Given the description of an element on the screen output the (x, y) to click on. 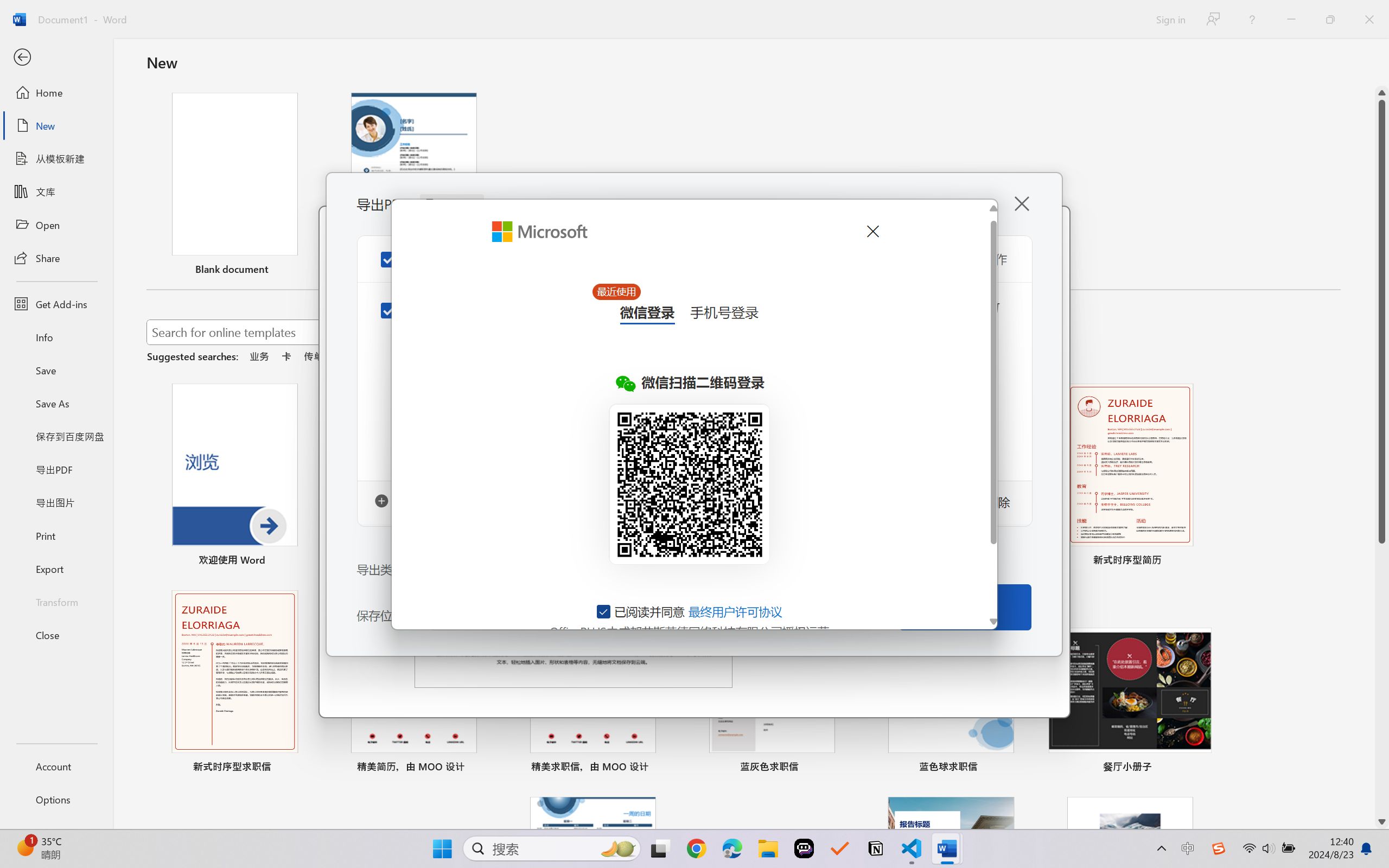
Info (56, 337)
Options (56, 798)
Line down (1382, 821)
Export (56, 568)
New (56, 125)
Page down (1382, 679)
Get Add-ins (56, 303)
